Given the description of an element on the screen output the (x, y) to click on. 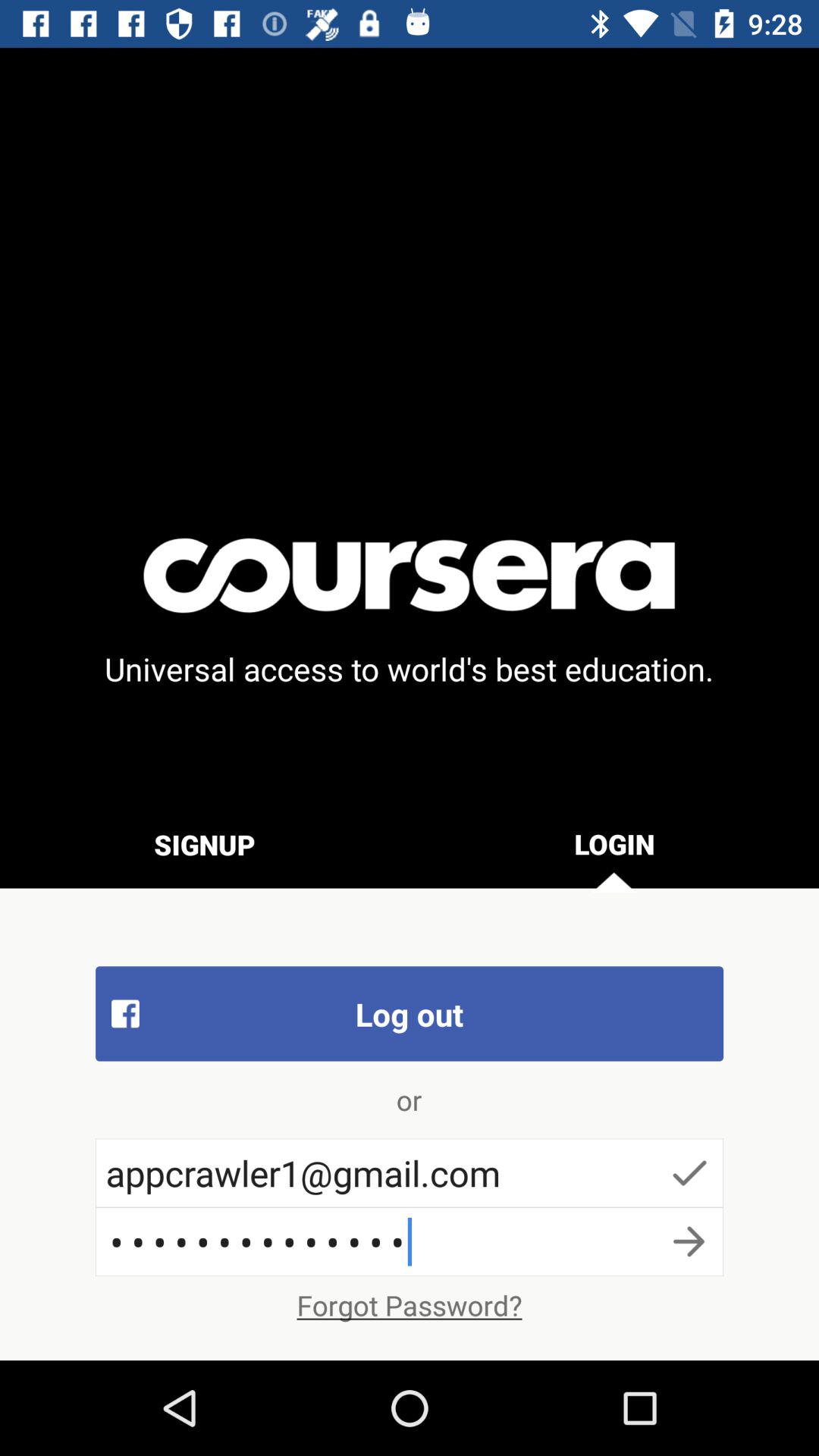
click the item next to the login (204, 844)
